Given the description of an element on the screen output the (x, y) to click on. 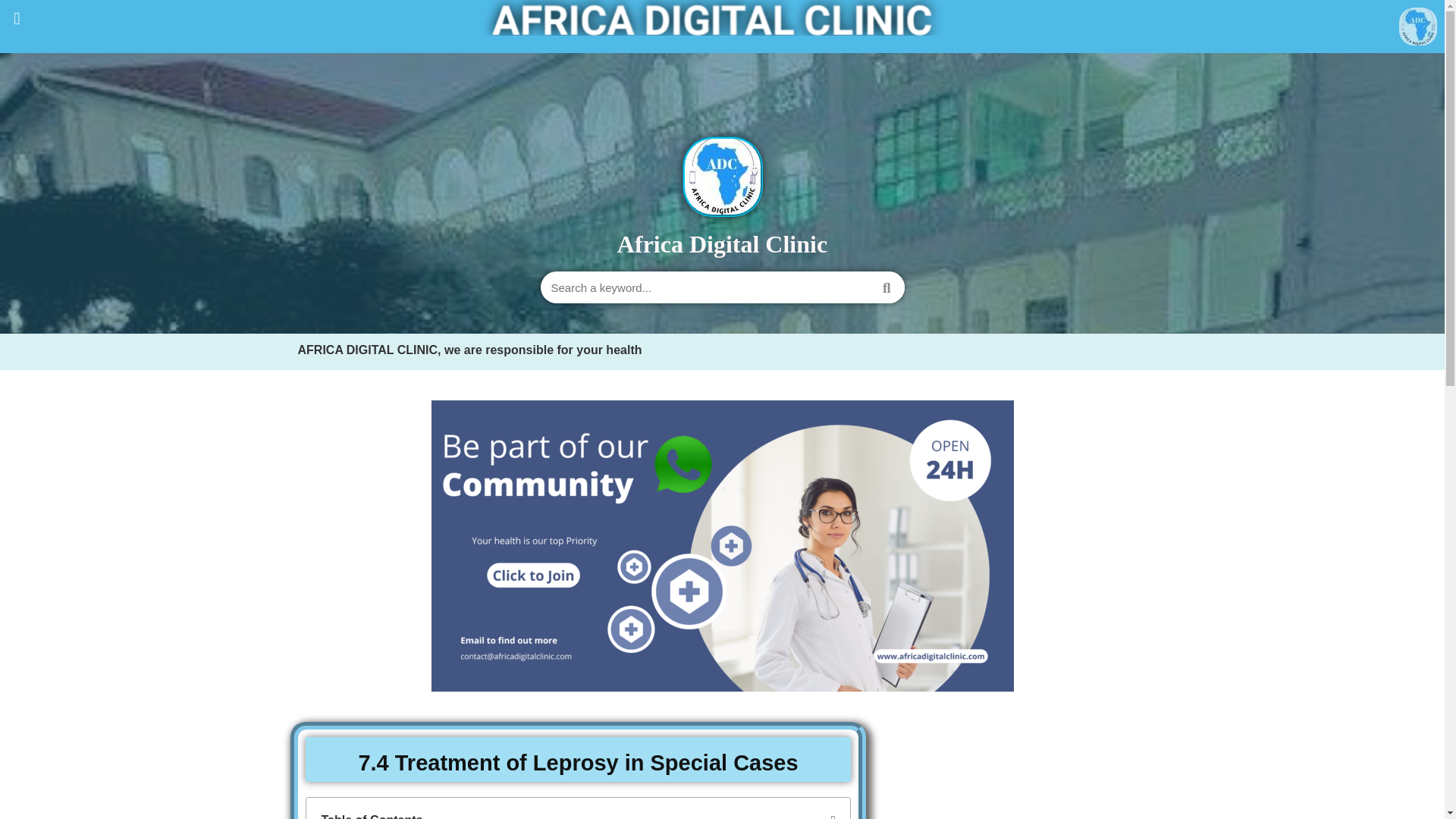
Search (886, 287)
Search (704, 287)
Africa Digital Clinic (722, 243)
ADC (721, 18)
